Given the description of an element on the screen output the (x, y) to click on. 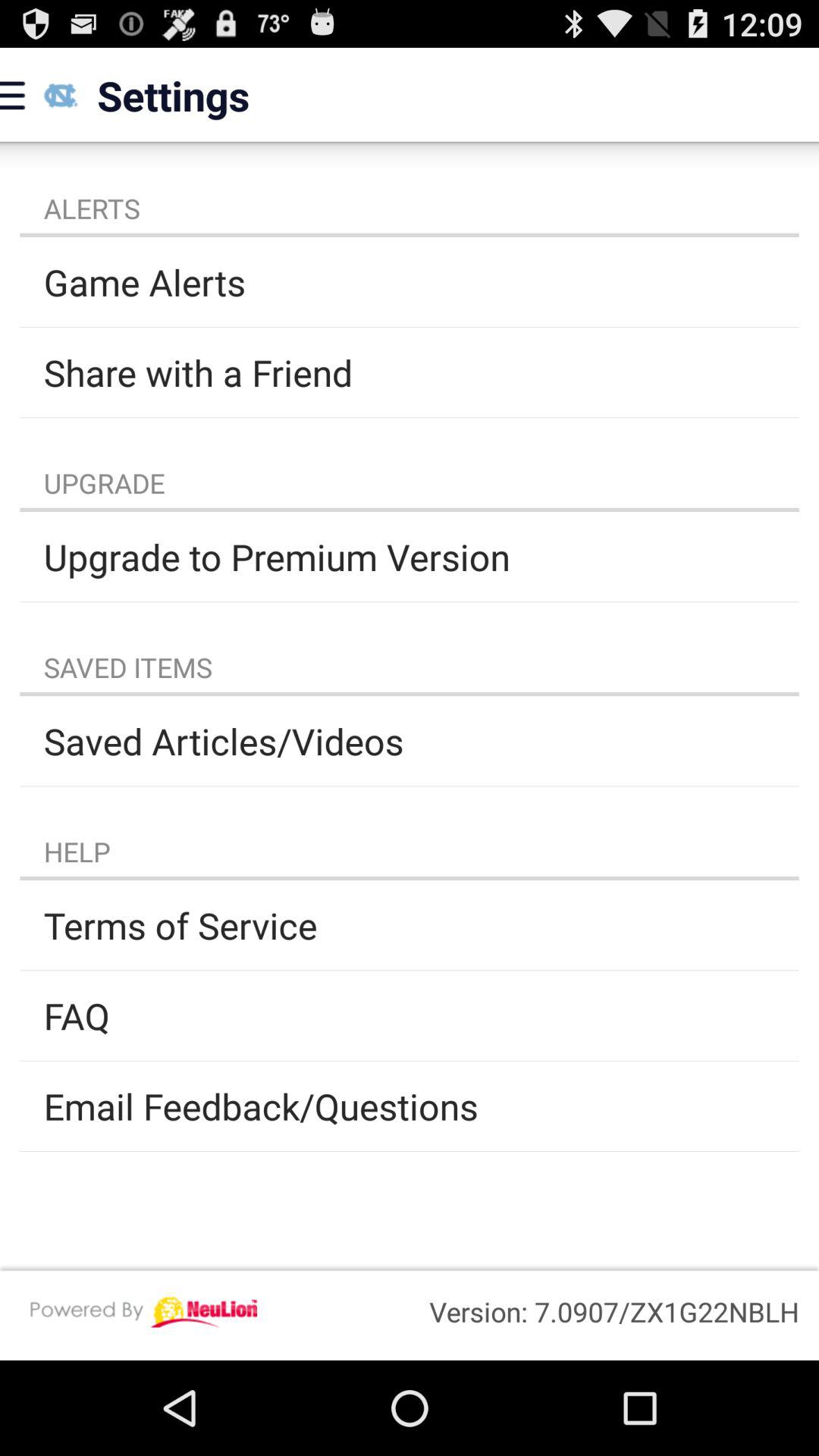
click upgrade to premium item (409, 556)
